Given the description of an element on the screen output the (x, y) to click on. 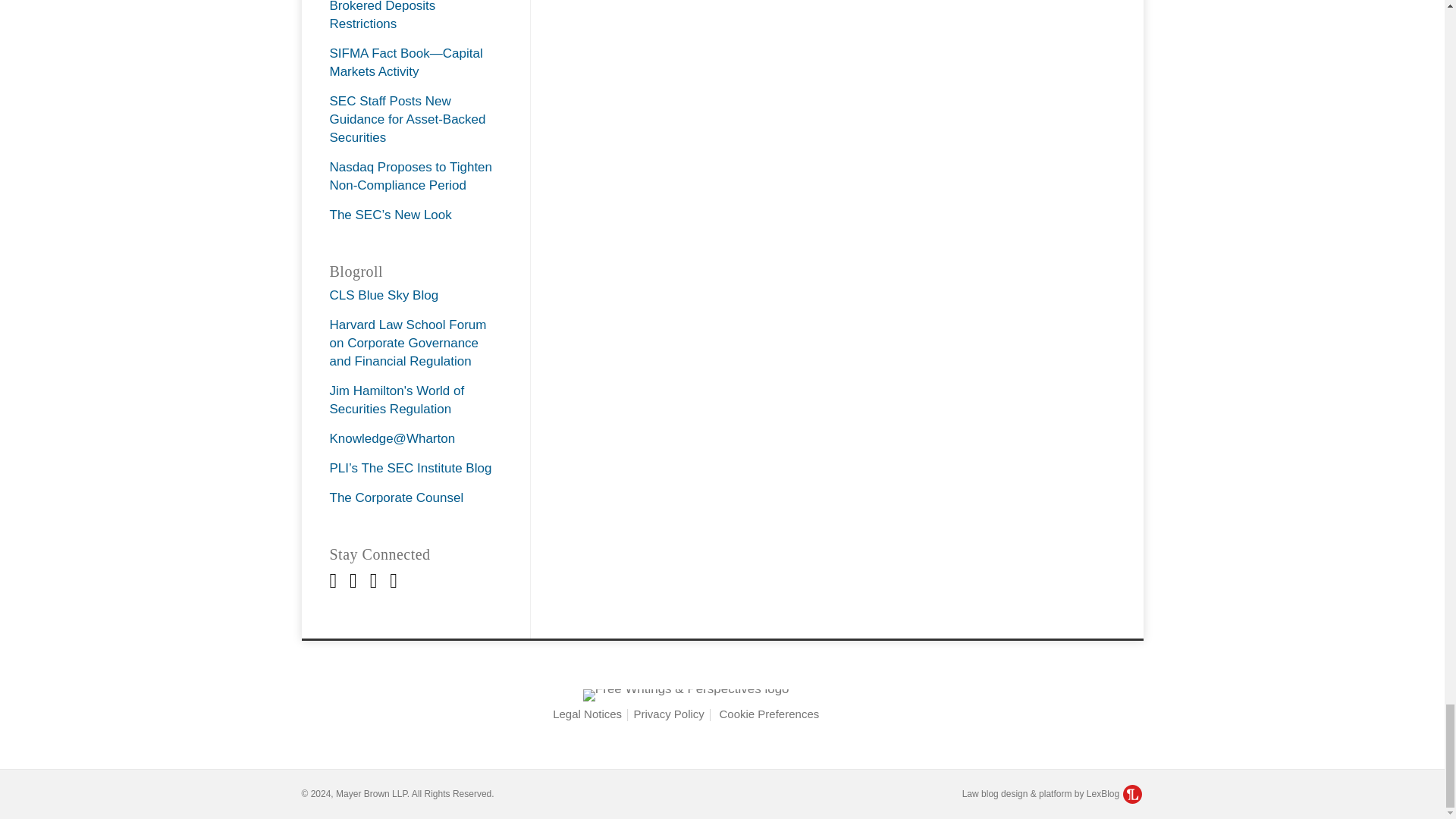
LexBlog Logo (1131, 793)
